Given the description of an element on the screen output the (x, y) to click on. 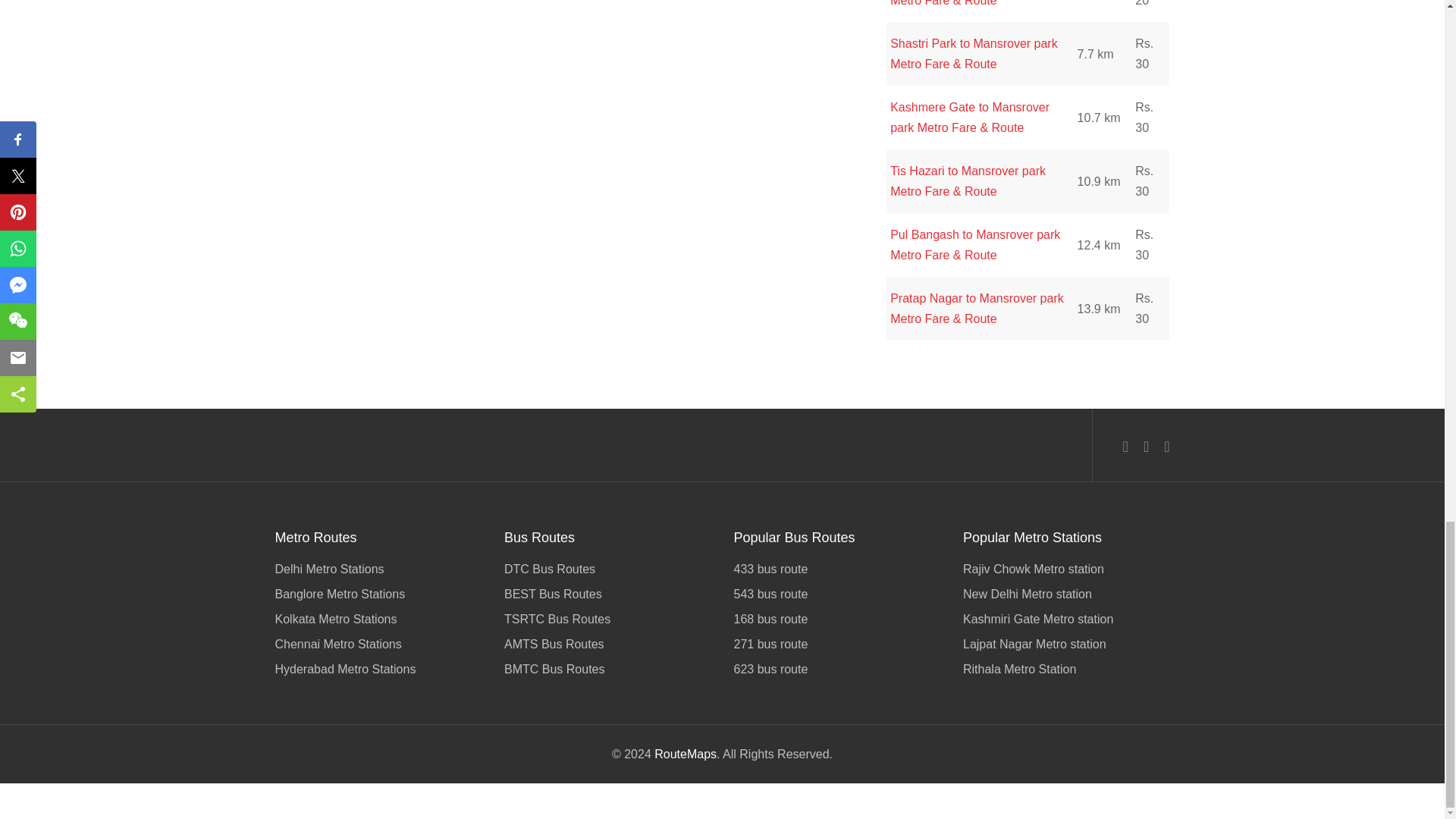
Pinterest (1166, 445)
Twitter (1145, 445)
Facebook (1125, 445)
